Given the description of an element on the screen output the (x, y) to click on. 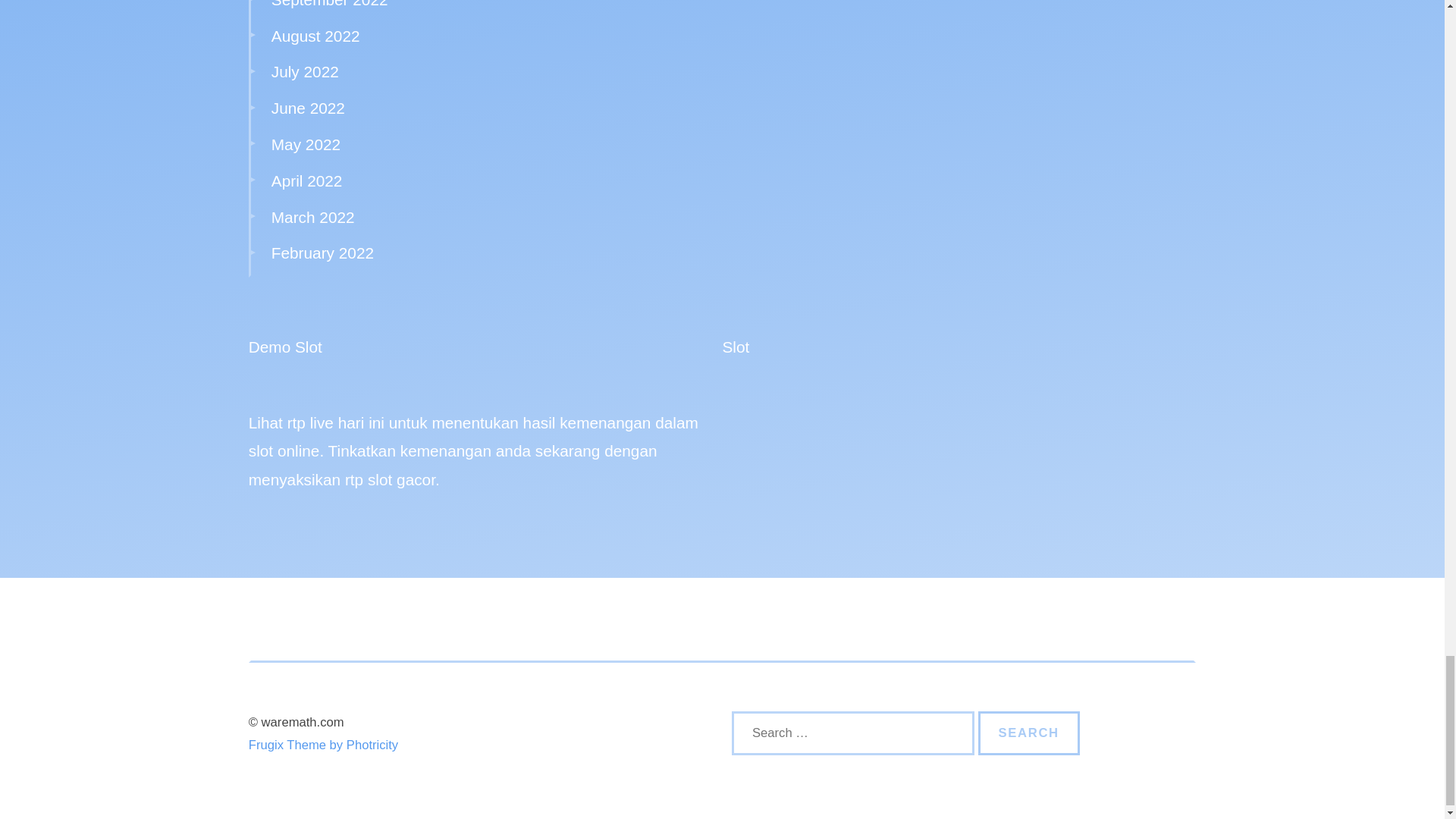
Search (1029, 733)
Search (1029, 733)
